Given the description of an element on the screen output the (x, y) to click on. 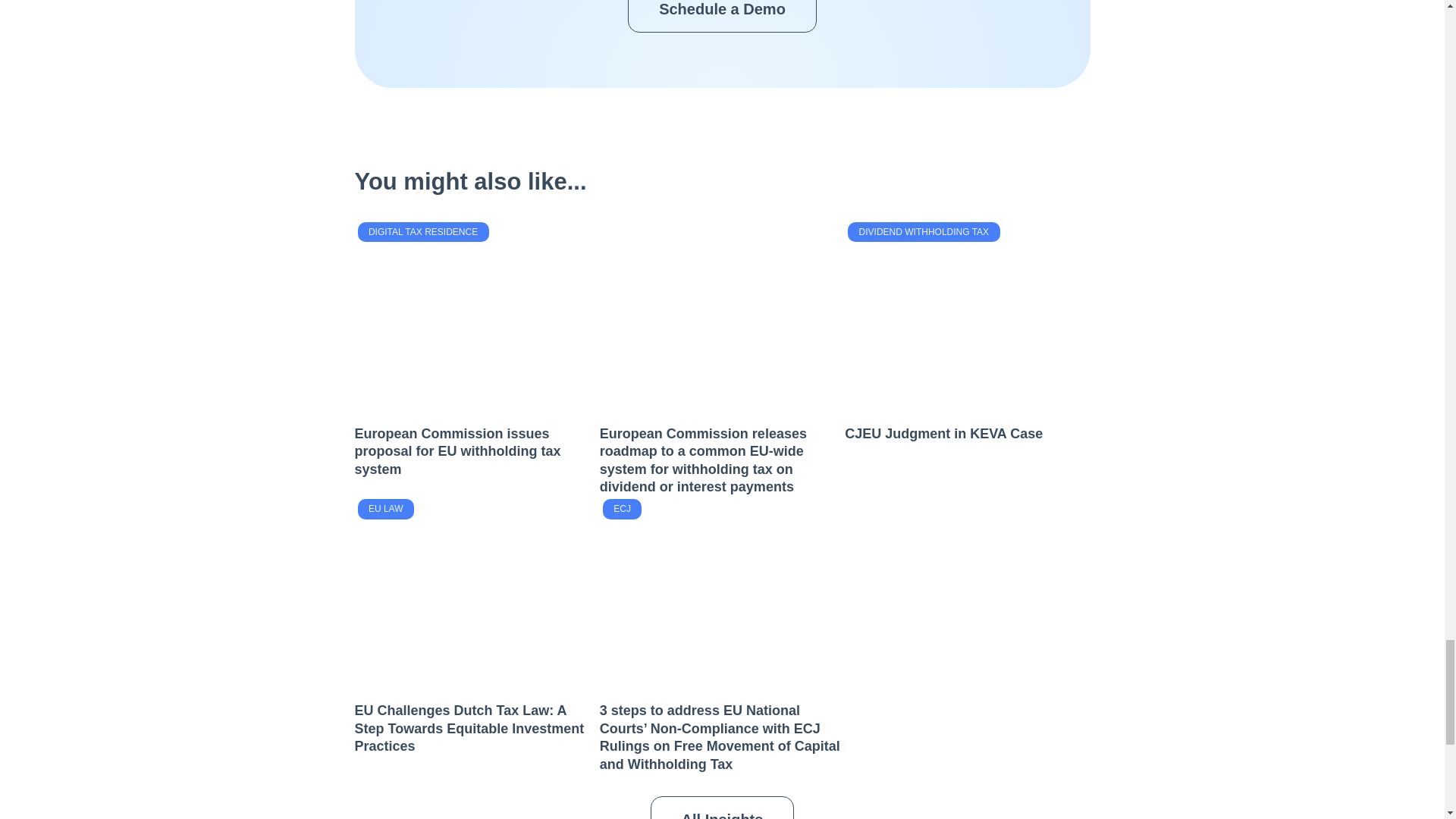
CJEU Judgment in KEVA Case (943, 433)
All Insights (722, 807)
Schedule a Demo (721, 16)
